Given the description of an element on the screen output the (x, y) to click on. 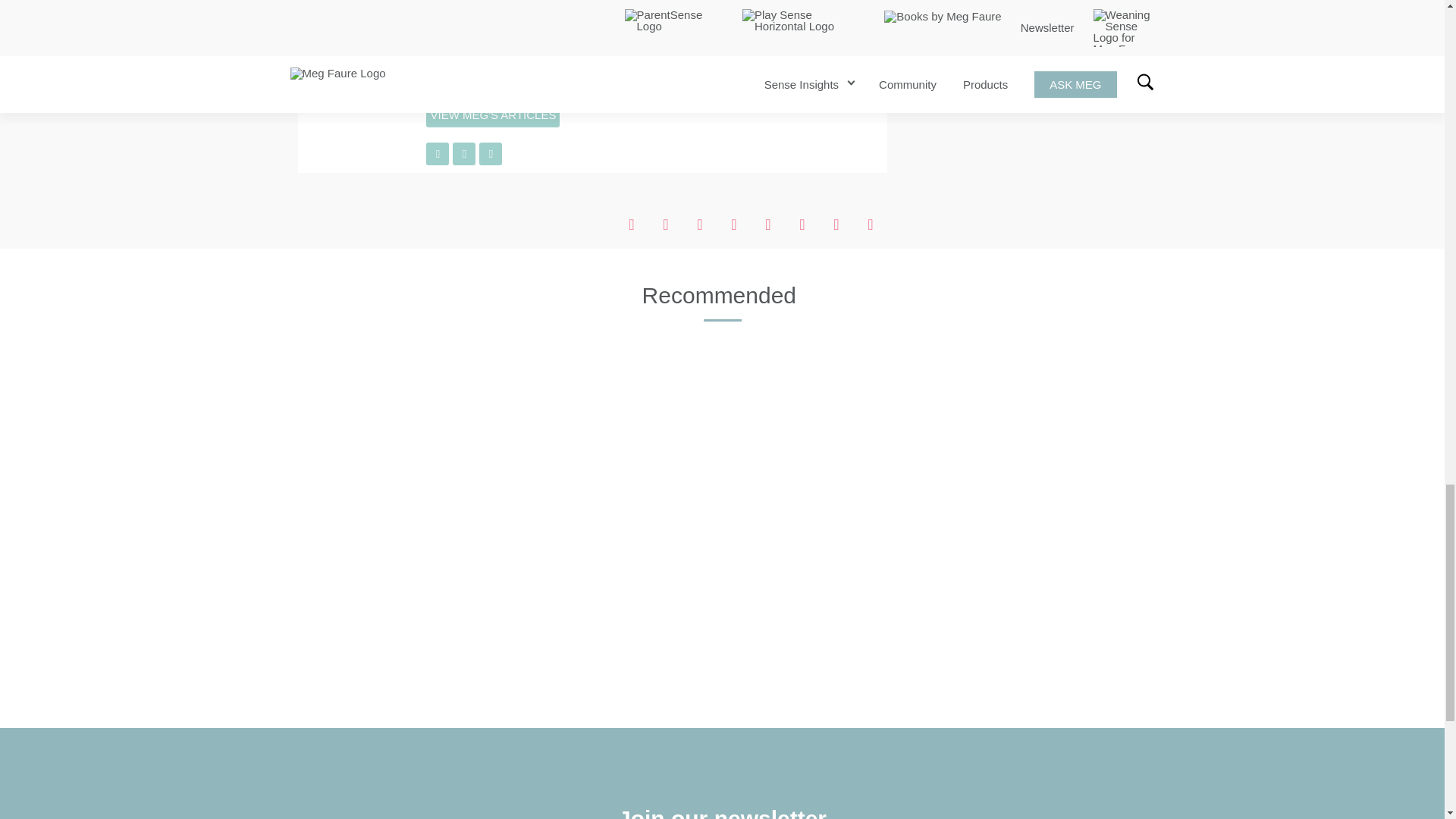
VIEW MEG'S ARTICLES (492, 114)
